Given the description of an element on the screen output the (x, y) to click on. 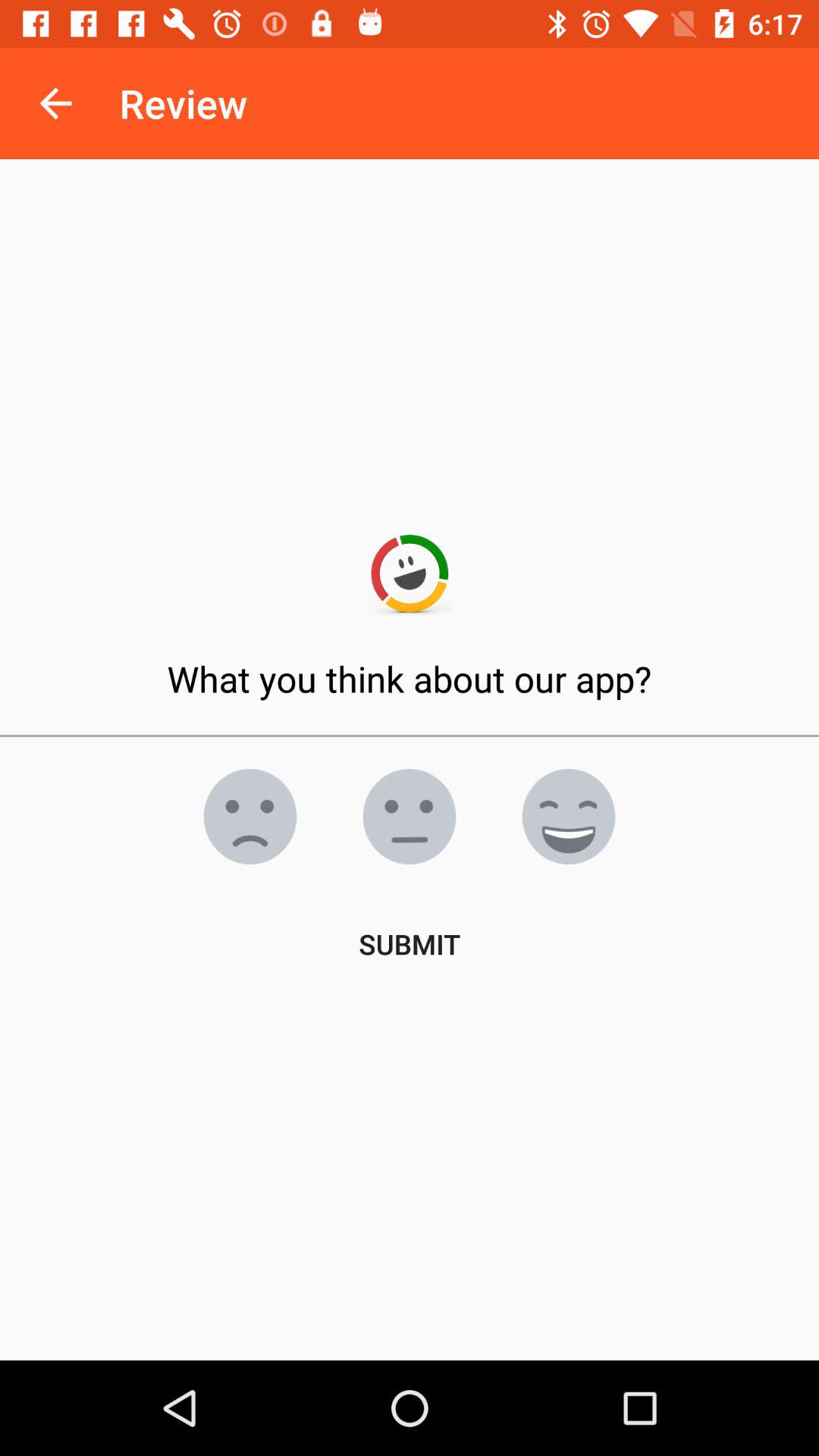
smiling (568, 816)
